Given the description of an element on the screen output the (x, y) to click on. 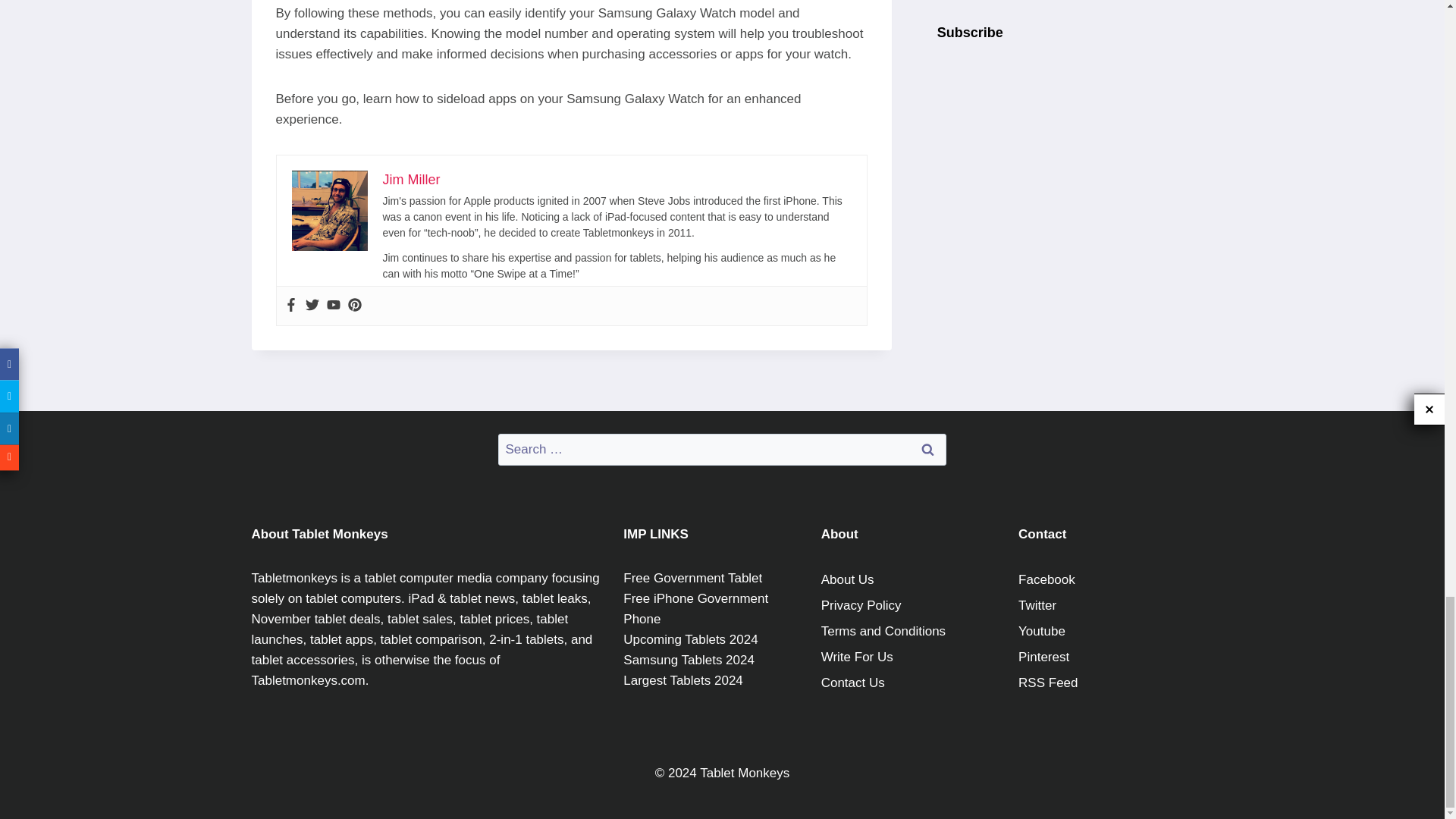
Search (927, 450)
Search (927, 450)
